Given the description of an element on the screen output the (x, y) to click on. 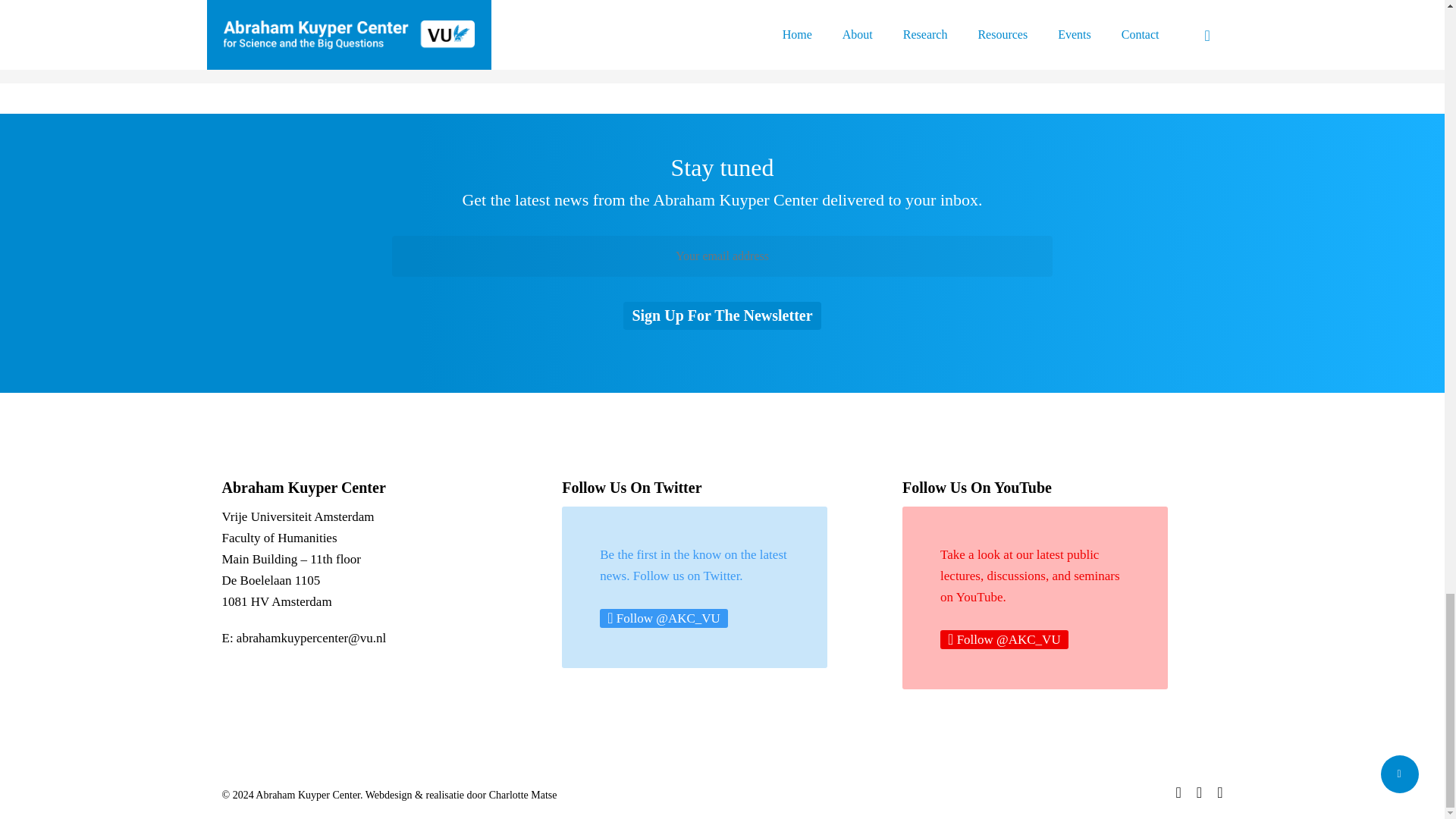
Sign up for the newsletter (722, 316)
